Given the description of an element on the screen output the (x, y) to click on. 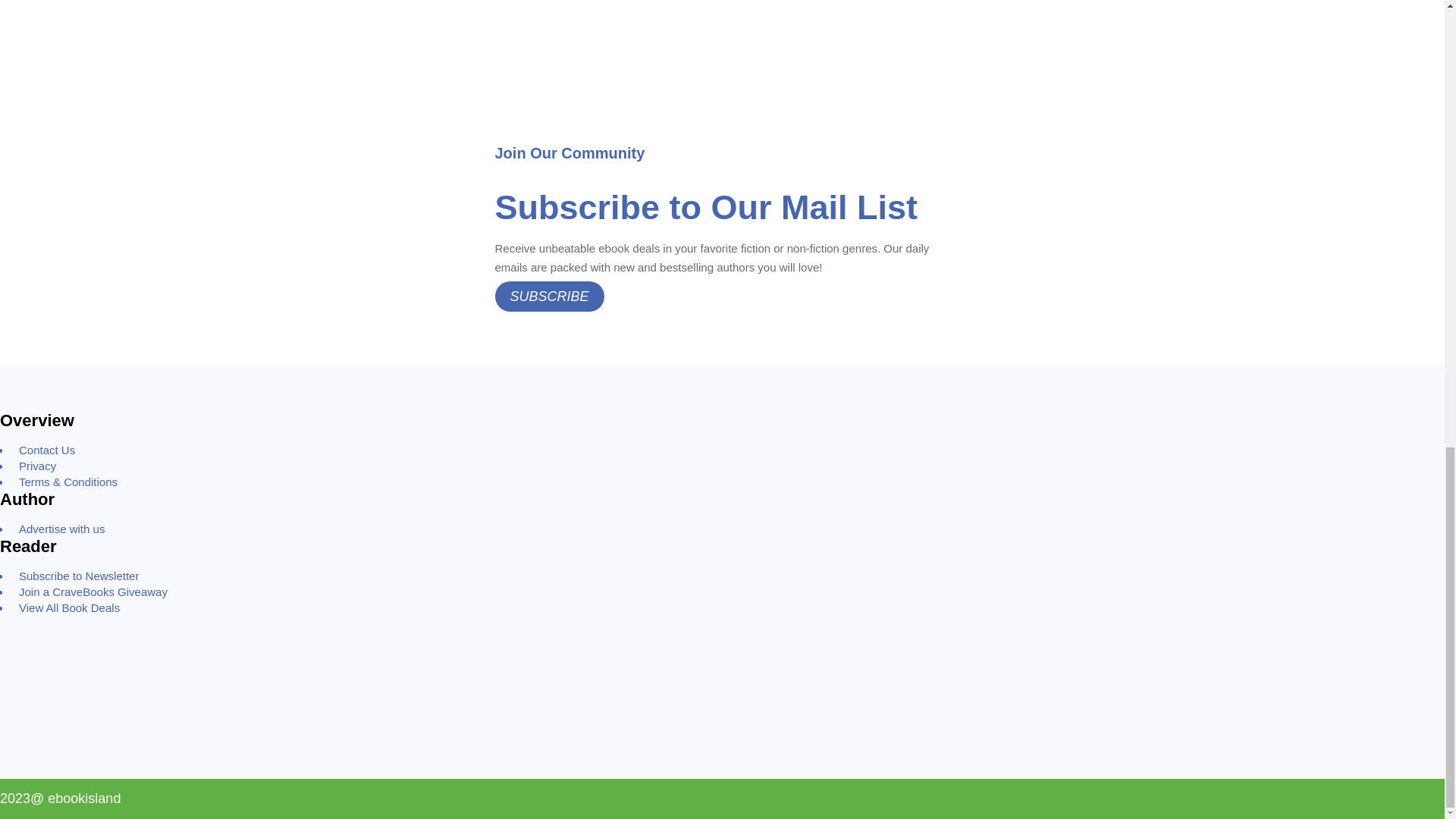
View All Book Deals (69, 607)
Join a CraveBooks Giveaway (92, 591)
Advertise with us (61, 528)
Privacy (37, 465)
Subscribe to Newsletter (79, 575)
Contact Us (46, 449)
SUBSCRIBE (549, 296)
